Given the description of an element on the screen output the (x, y) to click on. 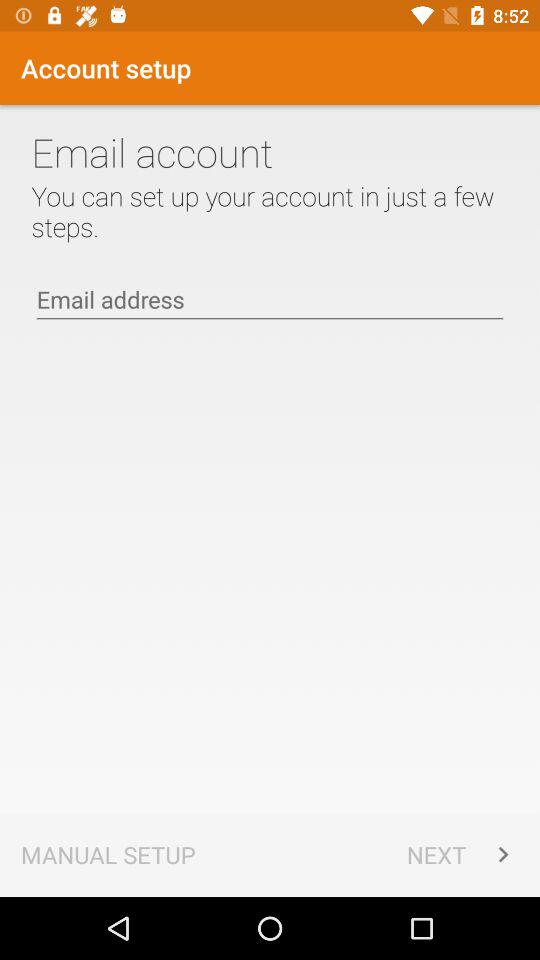
select next item (462, 854)
